Given the description of an element on the screen output the (x, y) to click on. 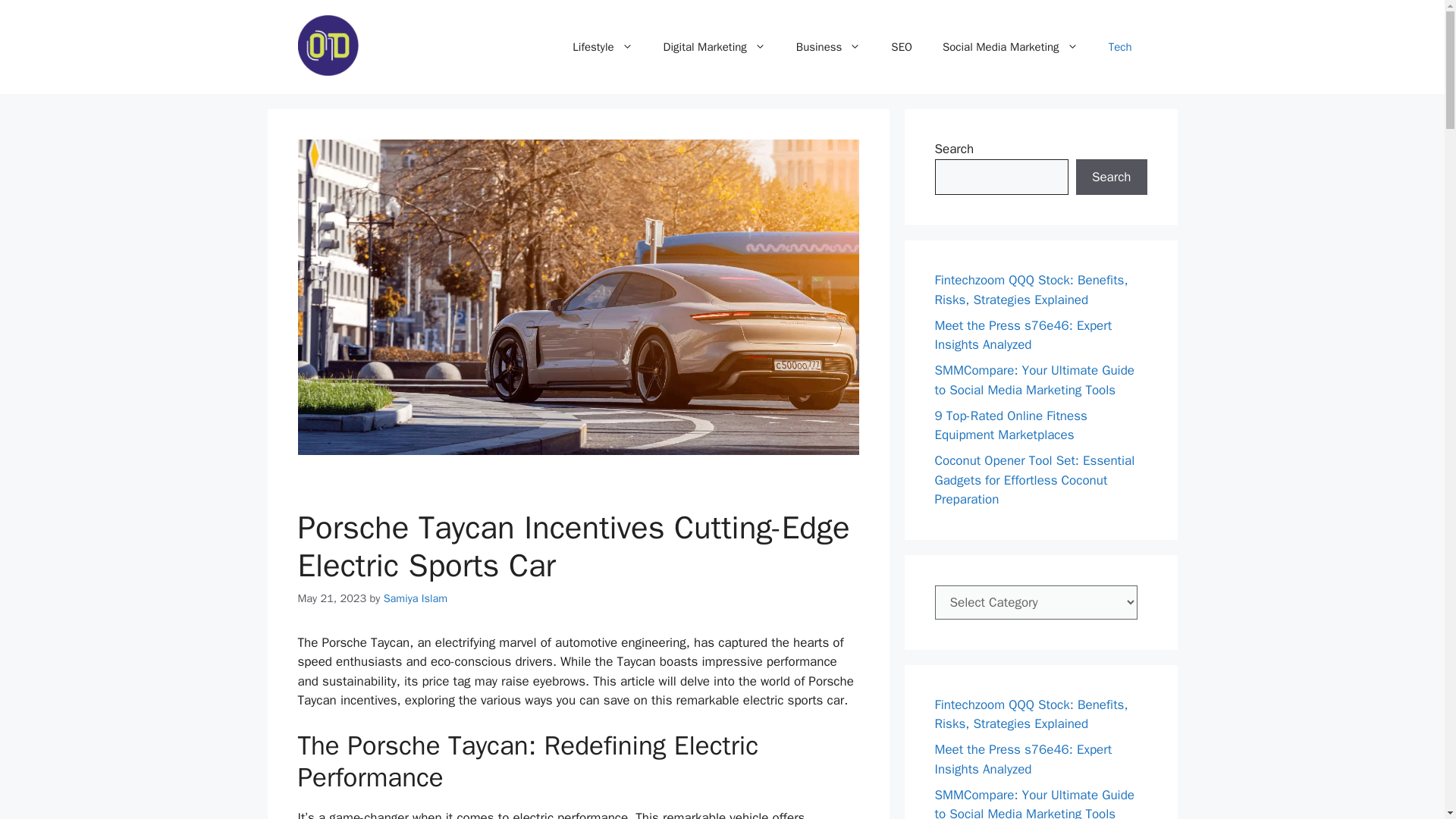
Search (1111, 176)
SEO (901, 46)
Business (828, 46)
Social Media Marketing (1010, 46)
Tech (1120, 46)
Digital Marketing (713, 46)
Fintechzoom QQQ Stock: Benefits, Risks, Strategies Explained (1030, 714)
Samiya Islam (416, 598)
9 Top-Rated Online Fitness Equipment Marketplaces (1010, 425)
View all posts by Samiya Islam (416, 598)
Meet the Press s76e46: Expert Insights Analyzed (1023, 334)
Meet the Press s76e46: Expert Insights Analyzed (1023, 759)
